Given the description of an element on the screen output the (x, y) to click on. 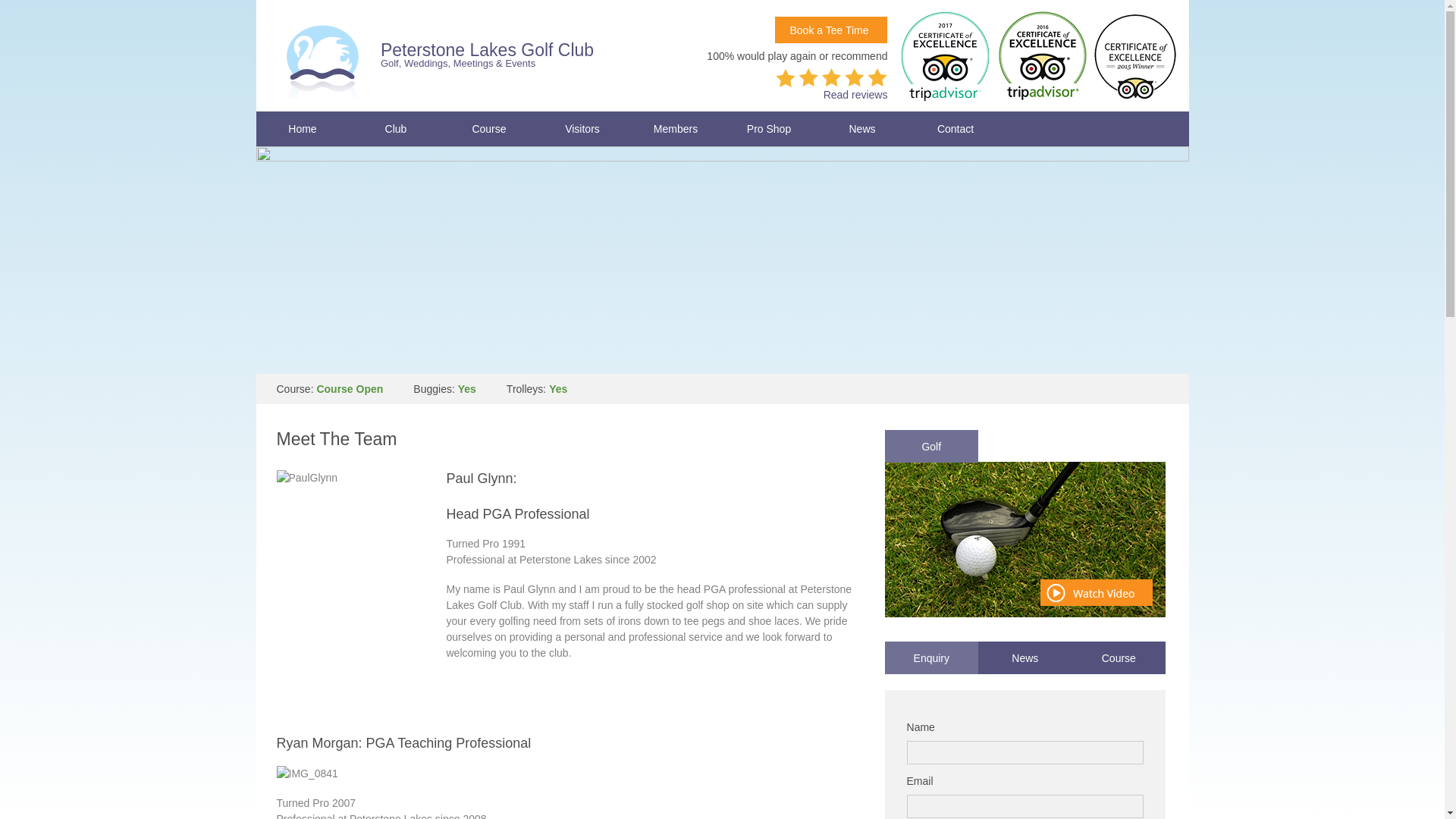
Book a Tee Time (830, 29)
News (861, 128)
Read reviews (856, 94)
Enquiry (931, 657)
Home (302, 128)
News (1024, 657)
Contact (954, 128)
Course (1118, 657)
Golf (931, 445)
Course (488, 128)
Pro Shop (768, 128)
Club (395, 128)
Visitors (581, 128)
Members (675, 128)
